Given the description of an element on the screen output the (x, y) to click on. 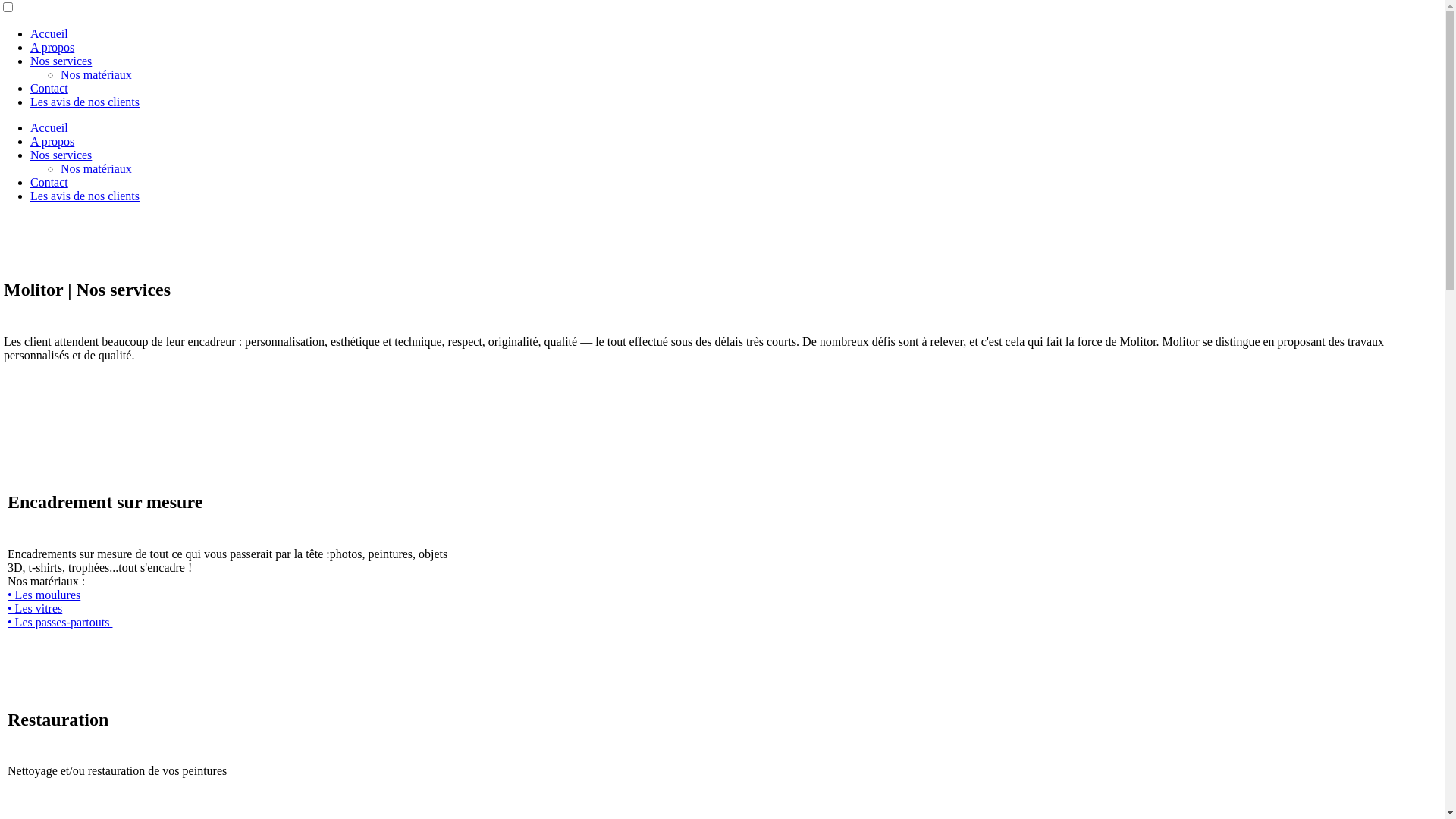
A propos Element type: text (52, 46)
Accueil Element type: text (49, 33)
Accueil Element type: text (49, 127)
A propos Element type: text (52, 140)
Les avis de nos clients Element type: text (84, 101)
Contact Element type: text (49, 181)
Contact Element type: text (49, 87)
Nos services Element type: text (60, 60)
Nos services Element type: text (60, 154)
Les avis de nos clients Element type: text (84, 195)
